Given the description of an element on the screen output the (x, y) to click on. 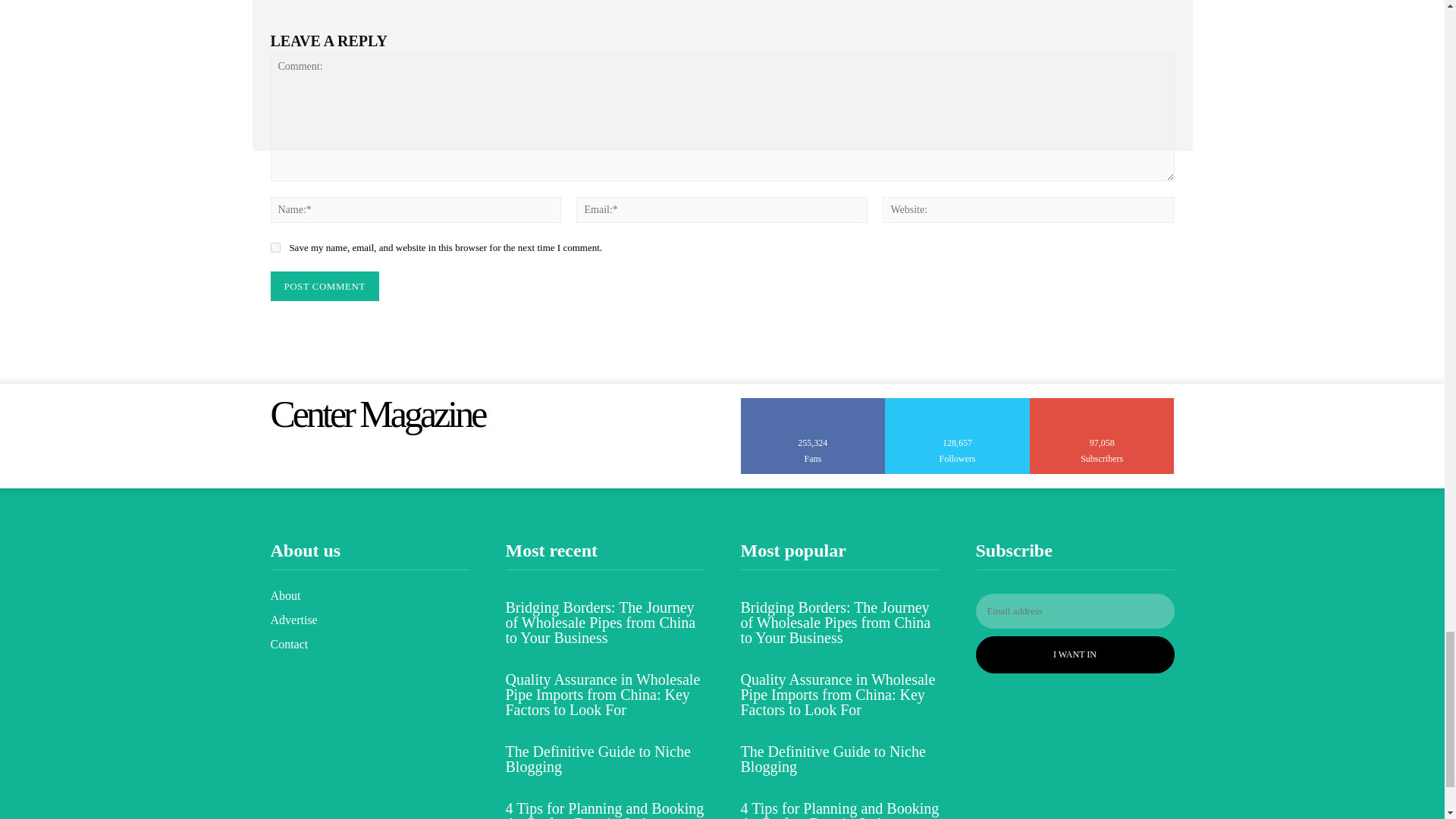
Post Comment (323, 286)
yes (274, 247)
